Given the description of an element on the screen output the (x, y) to click on. 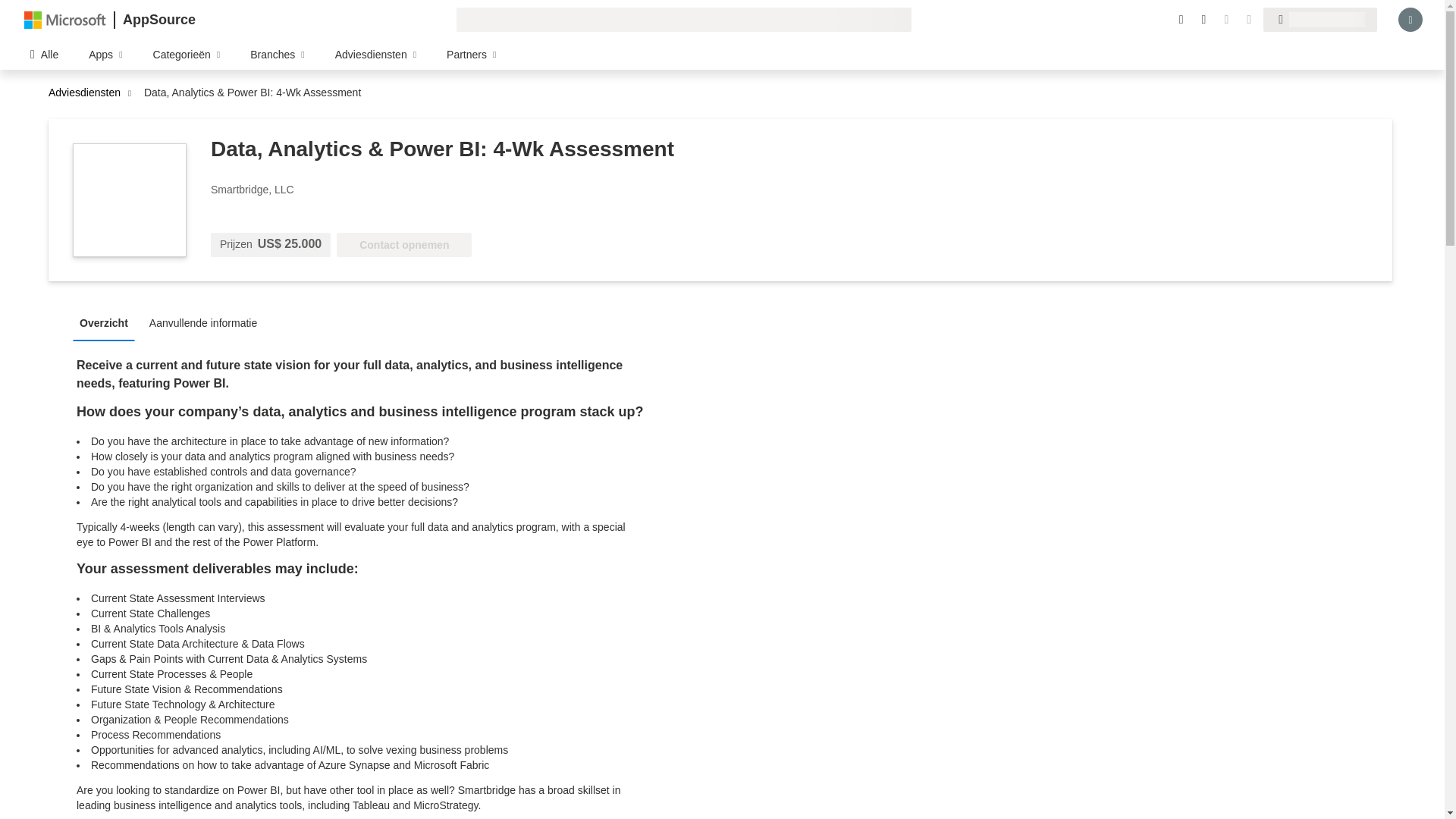
Adviesdiensten (88, 92)
AppSource (158, 19)
Overzicht (107, 322)
Contact opnemen (403, 244)
Microsoft (65, 18)
Aanvullende informatie (206, 322)
